Given the description of an element on the screen output the (x, y) to click on. 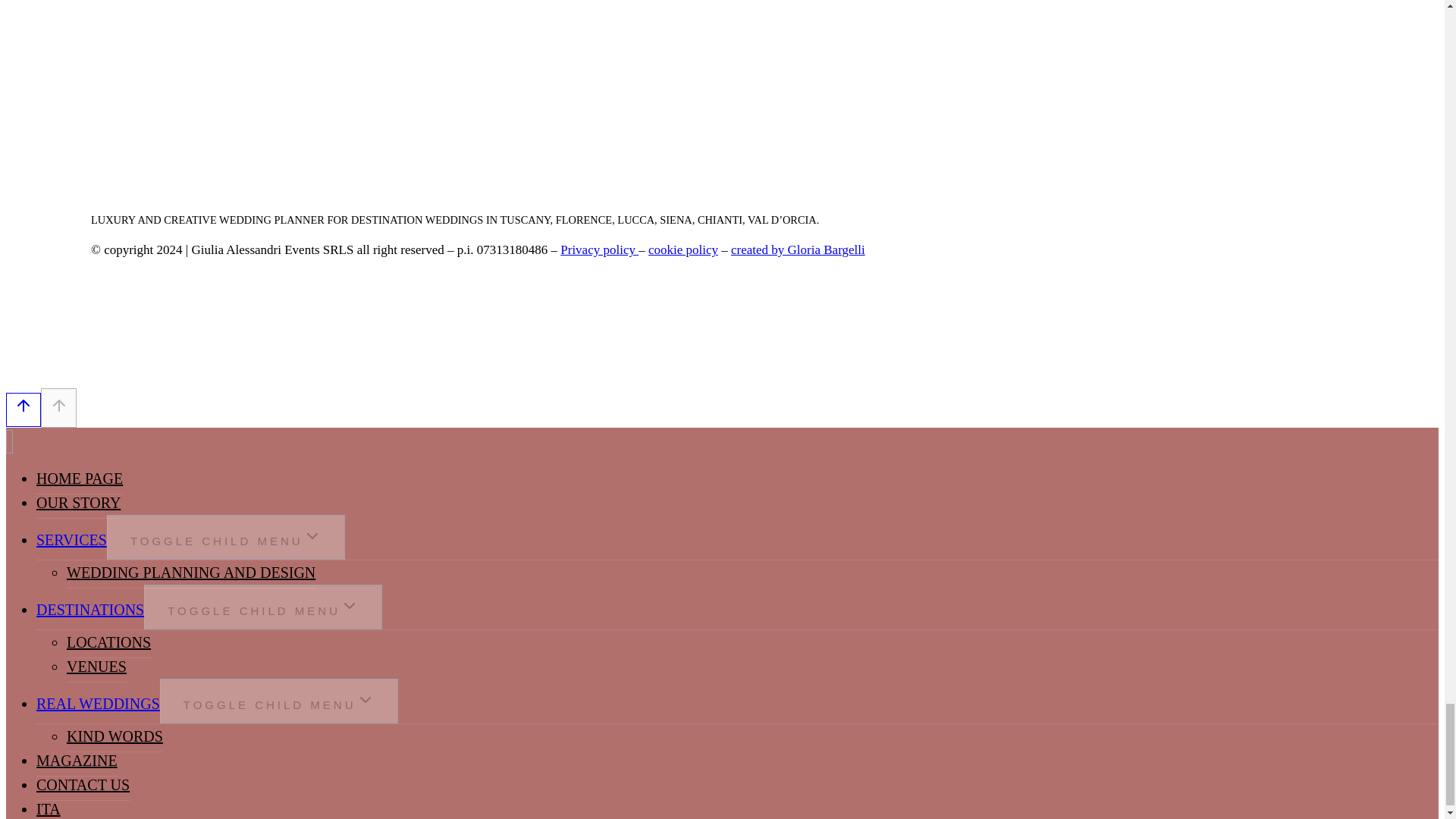
EXPAND (349, 606)
EXPAND (311, 536)
EXPAND (365, 700)
SCROLL TO TOP (57, 407)
cookie policy (682, 249)
Scroll to top (23, 405)
SCROLL TO TOP (58, 405)
created by Gloria Bargelli (797, 249)
Scroll to top (22, 409)
Privacy policy  (599, 249)
